Given the description of an element on the screen output the (x, y) to click on. 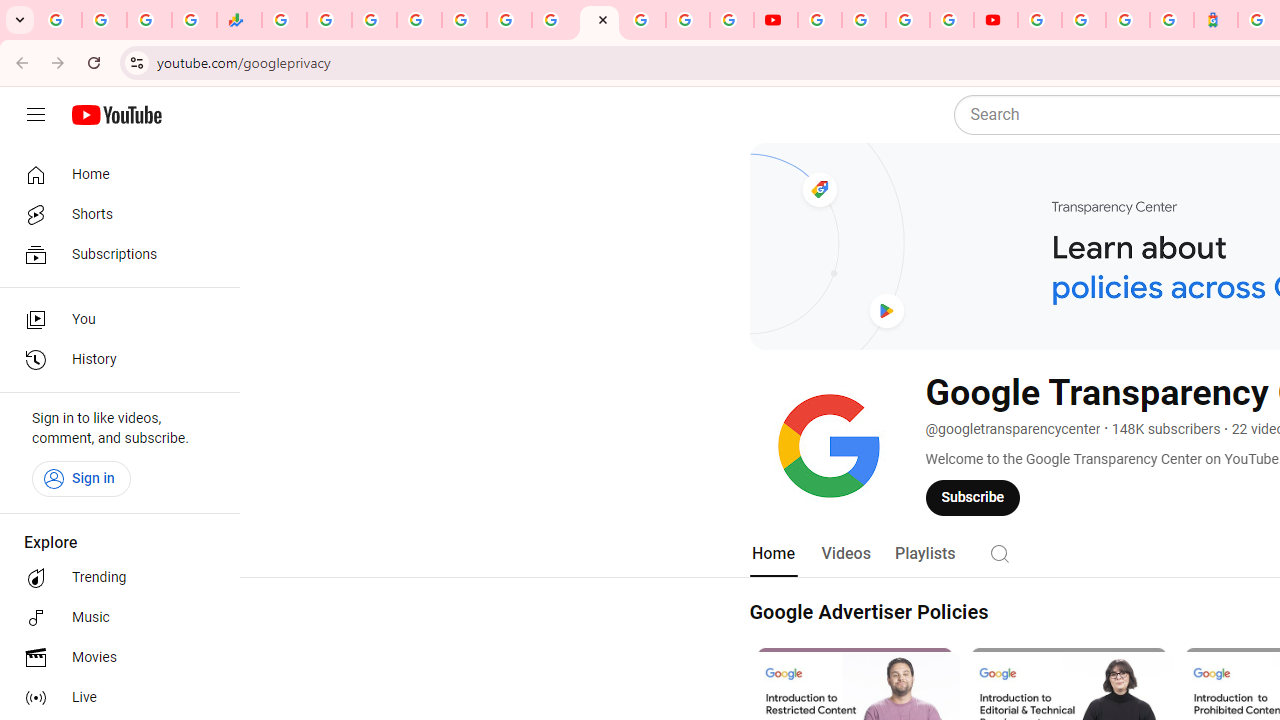
Subscriptions (113, 254)
Content Creator Programs & Opportunities - YouTube Creators (995, 20)
Sign in - Google Accounts (643, 20)
Home (113, 174)
Guide (35, 115)
Live (113, 697)
Playlists (924, 553)
